Given the description of an element on the screen output the (x, y) to click on. 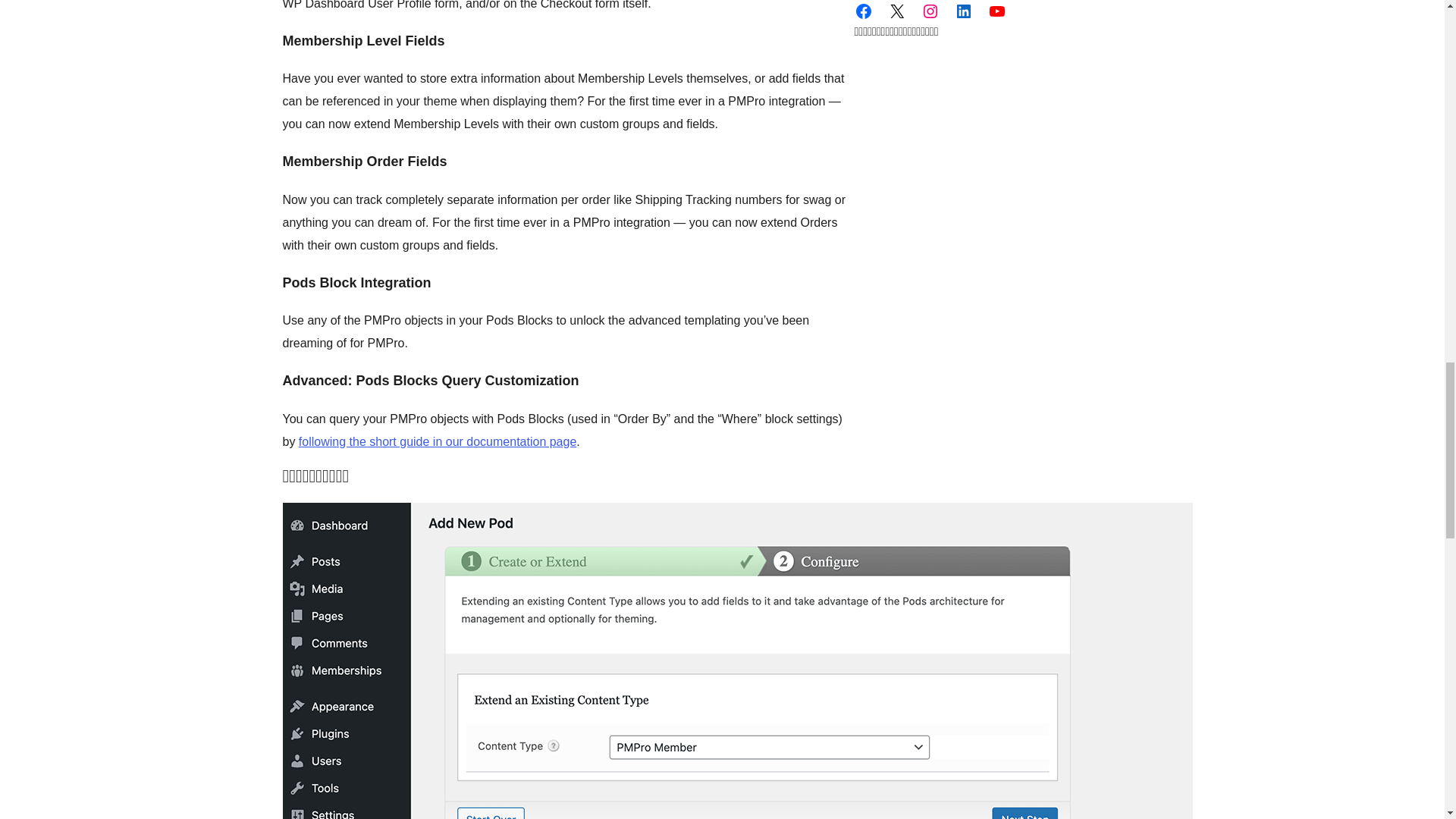
following the short guide in our documentation page (437, 440)
